Given the description of an element on the screen output the (x, y) to click on. 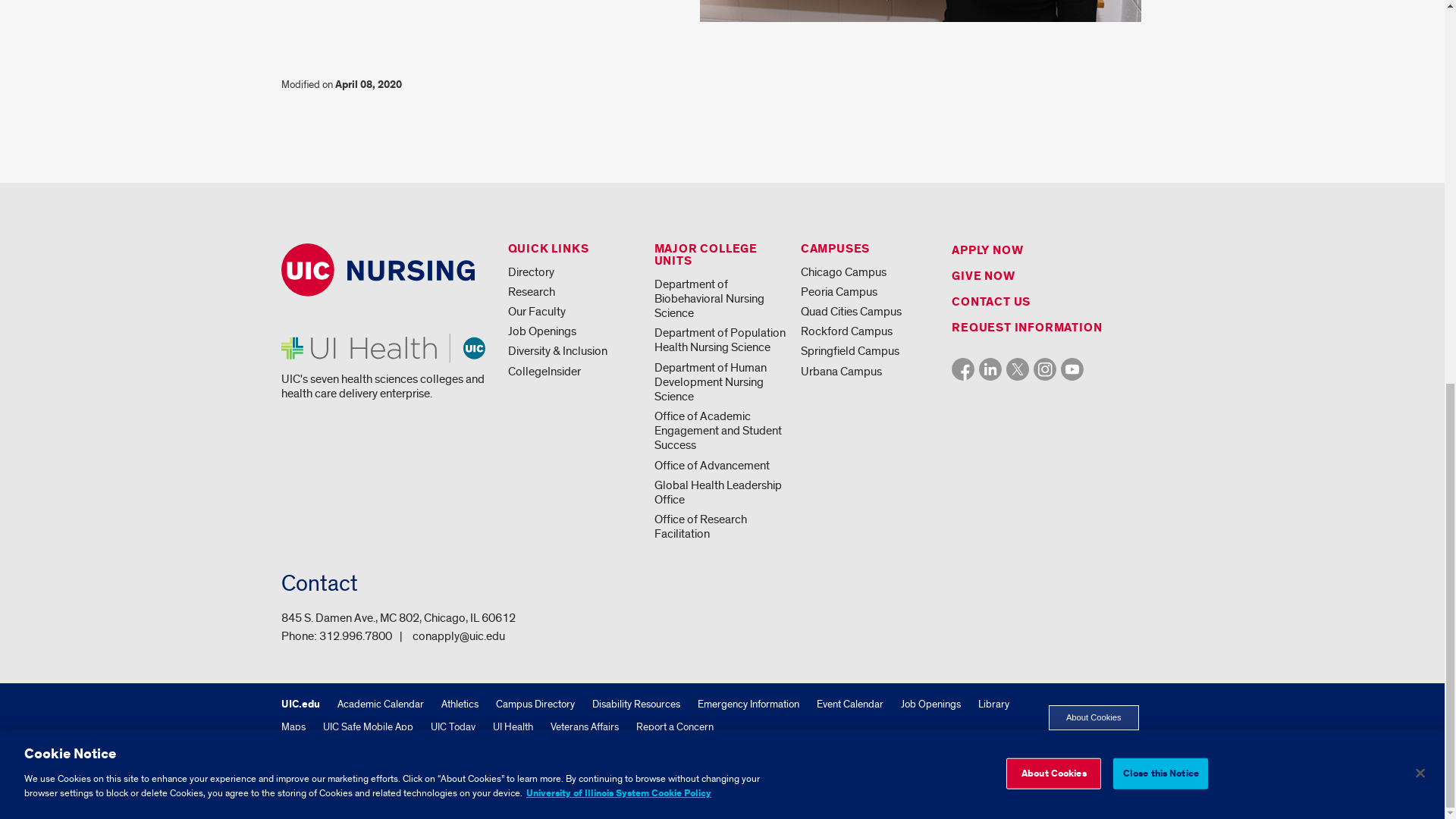
Linked In (989, 368)
Facebook (963, 368)
X (1017, 368)
Instagram (1045, 368)
YouTube (1072, 368)
